Given the description of an element on the screen output the (x, y) to click on. 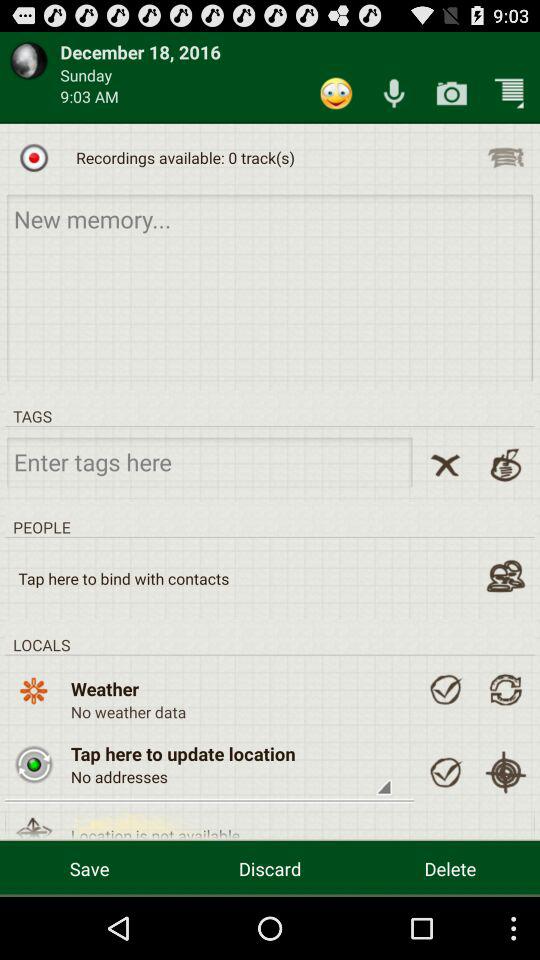
refresh weather data (505, 689)
